Given the description of an element on the screen output the (x, y) to click on. 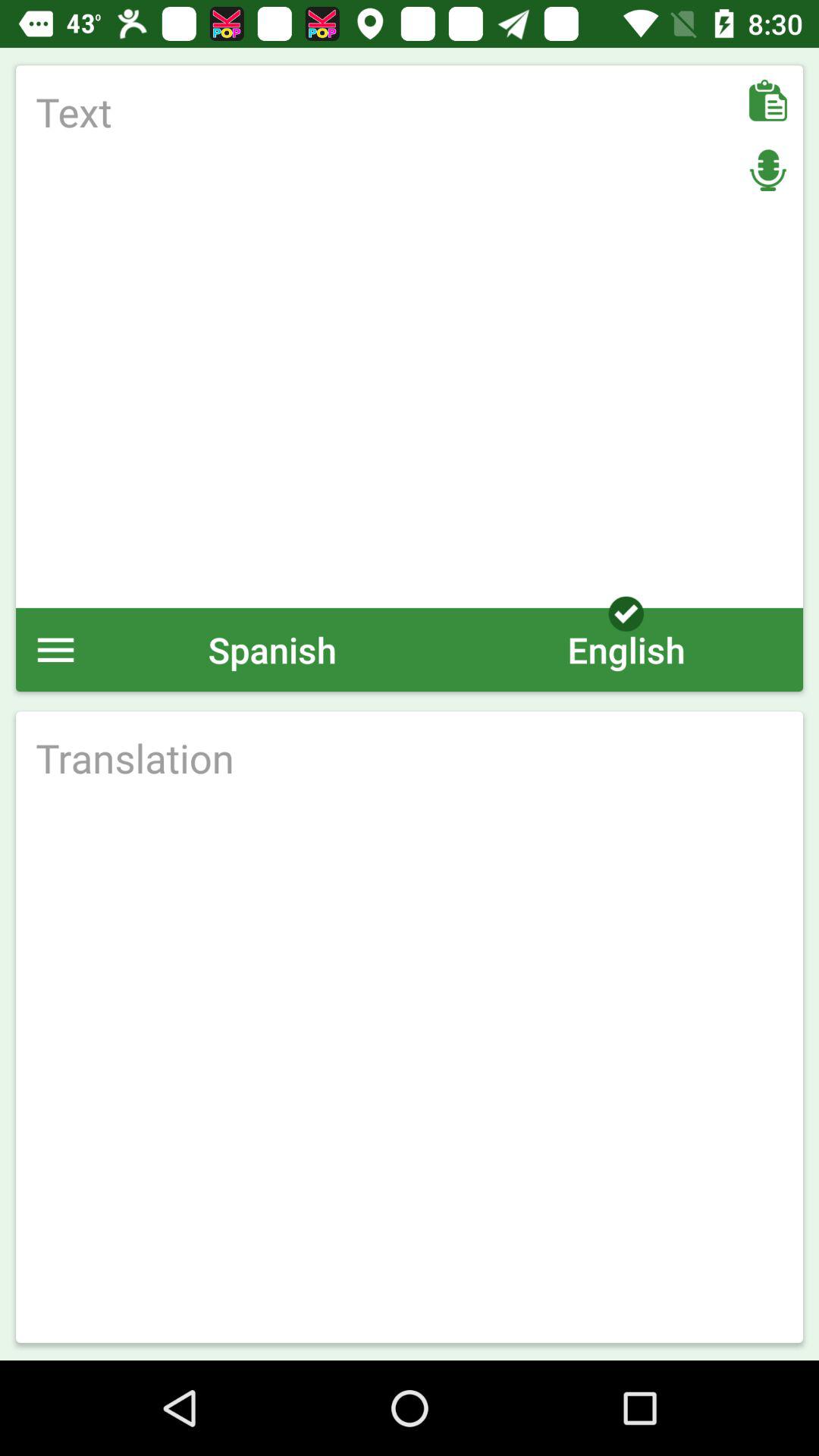
press the item to the left of the english (272, 649)
